Given the description of an element on the screen output the (x, y) to click on. 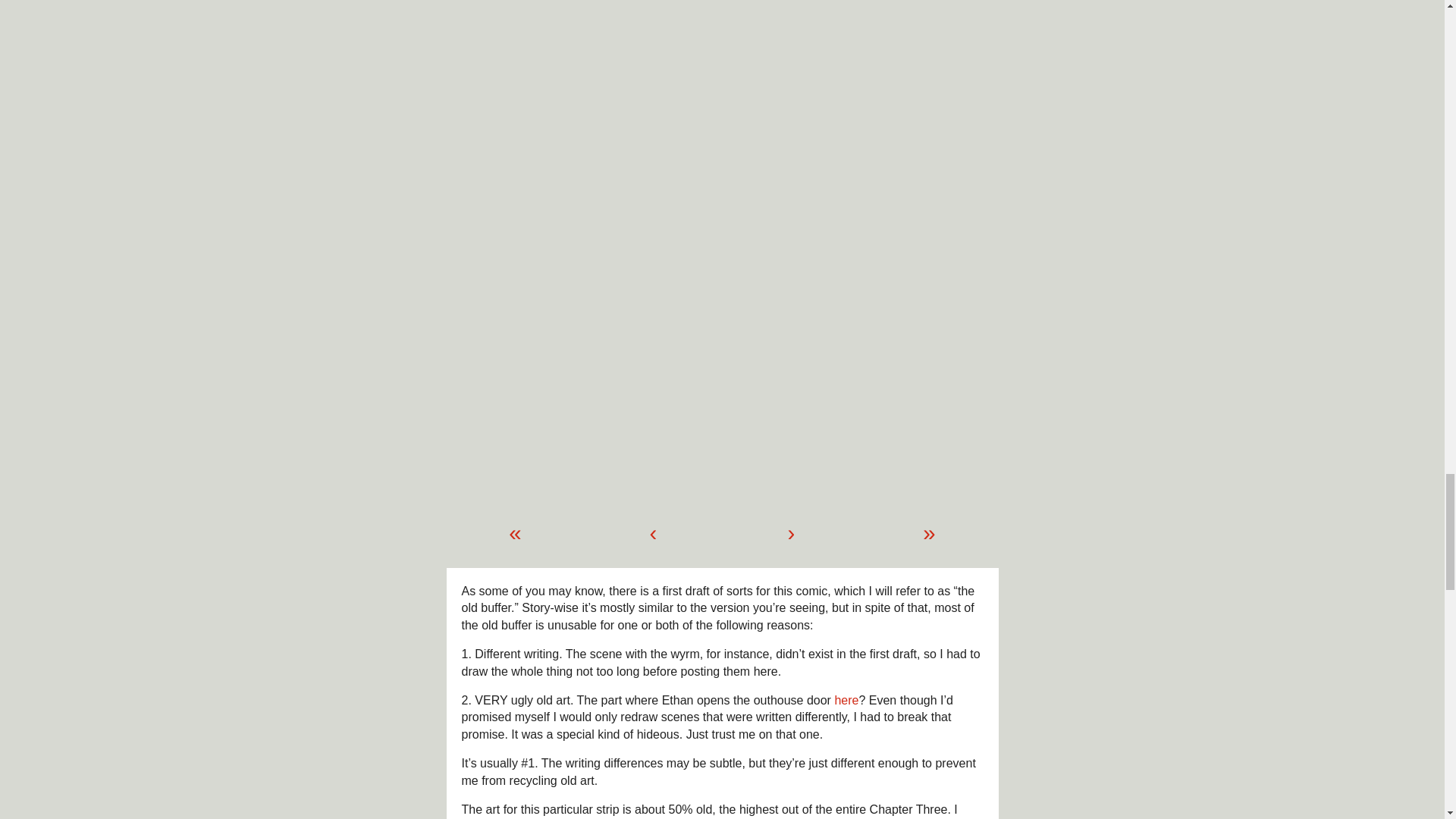
here (846, 699)
